Given the description of an element on the screen output the (x, y) to click on. 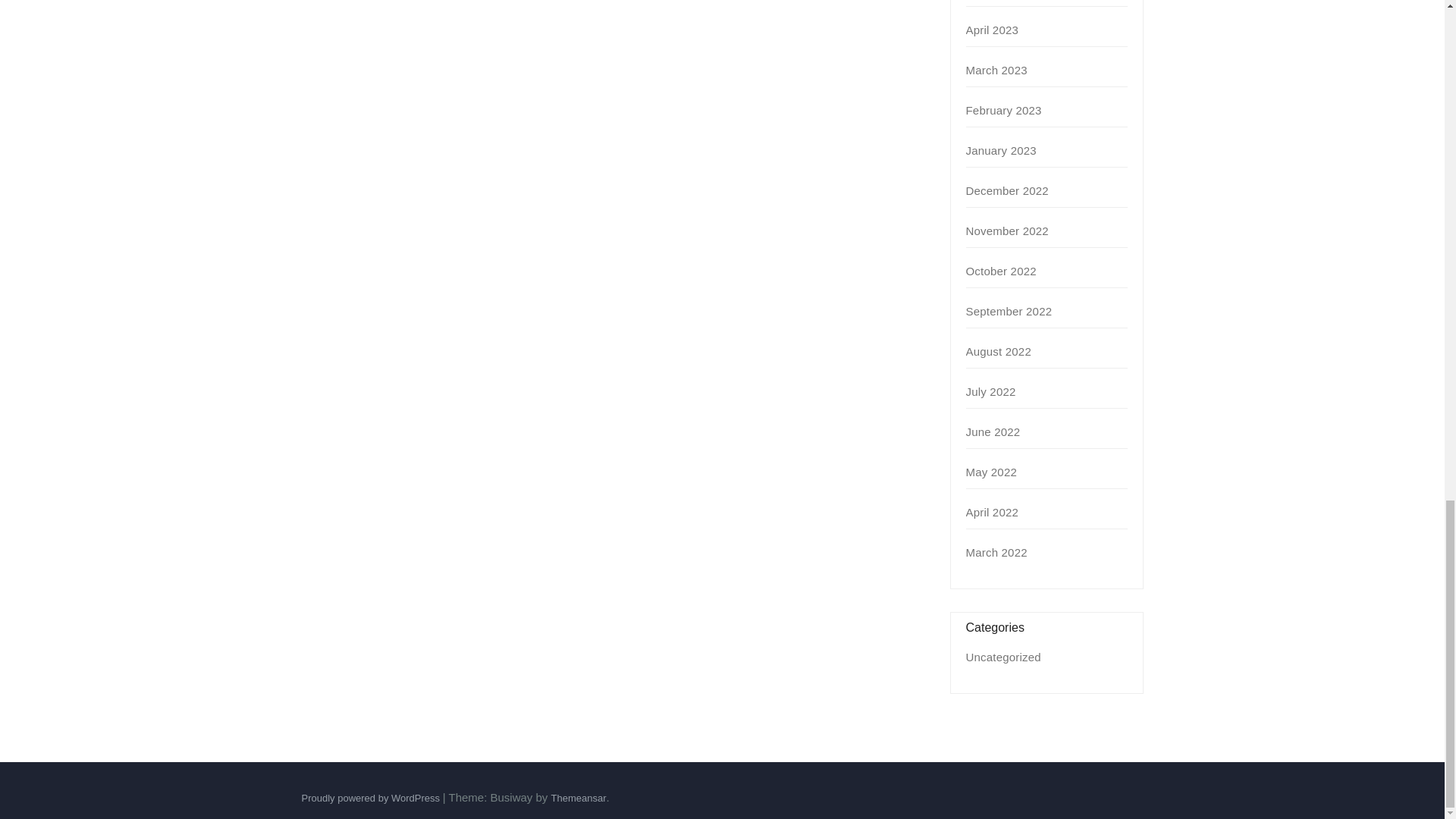
August 2022 (998, 350)
December 2022 (1007, 190)
November 2022 (1007, 230)
March 2023 (996, 69)
January 2023 (1001, 150)
October 2022 (1001, 270)
February 2023 (1004, 110)
April 2023 (992, 29)
July 2022 (991, 391)
September 2022 (1009, 310)
